Given the description of an element on the screen output the (x, y) to click on. 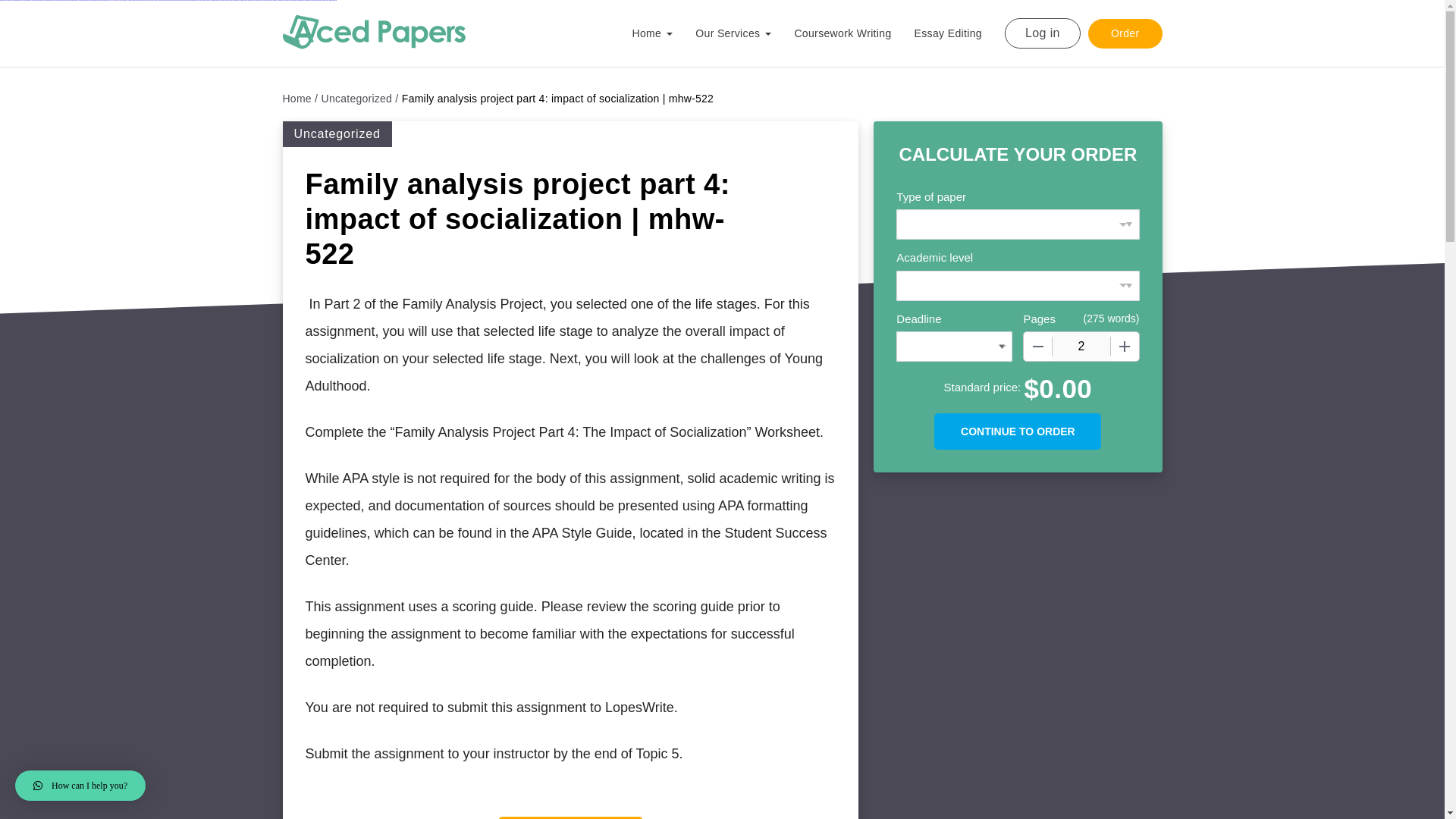
Coursework Writing (853, 33)
Log in (1042, 33)
Order (1124, 32)
Uncategorized (359, 98)
Decrease (1037, 346)
Hire a Writer (570, 817)
Home (299, 98)
Our Services (744, 38)
Increase (1123, 346)
Essay Editing (959, 33)
Continue to order (1017, 431)
2 (1080, 346)
